Given the description of an element on the screen output the (x, y) to click on. 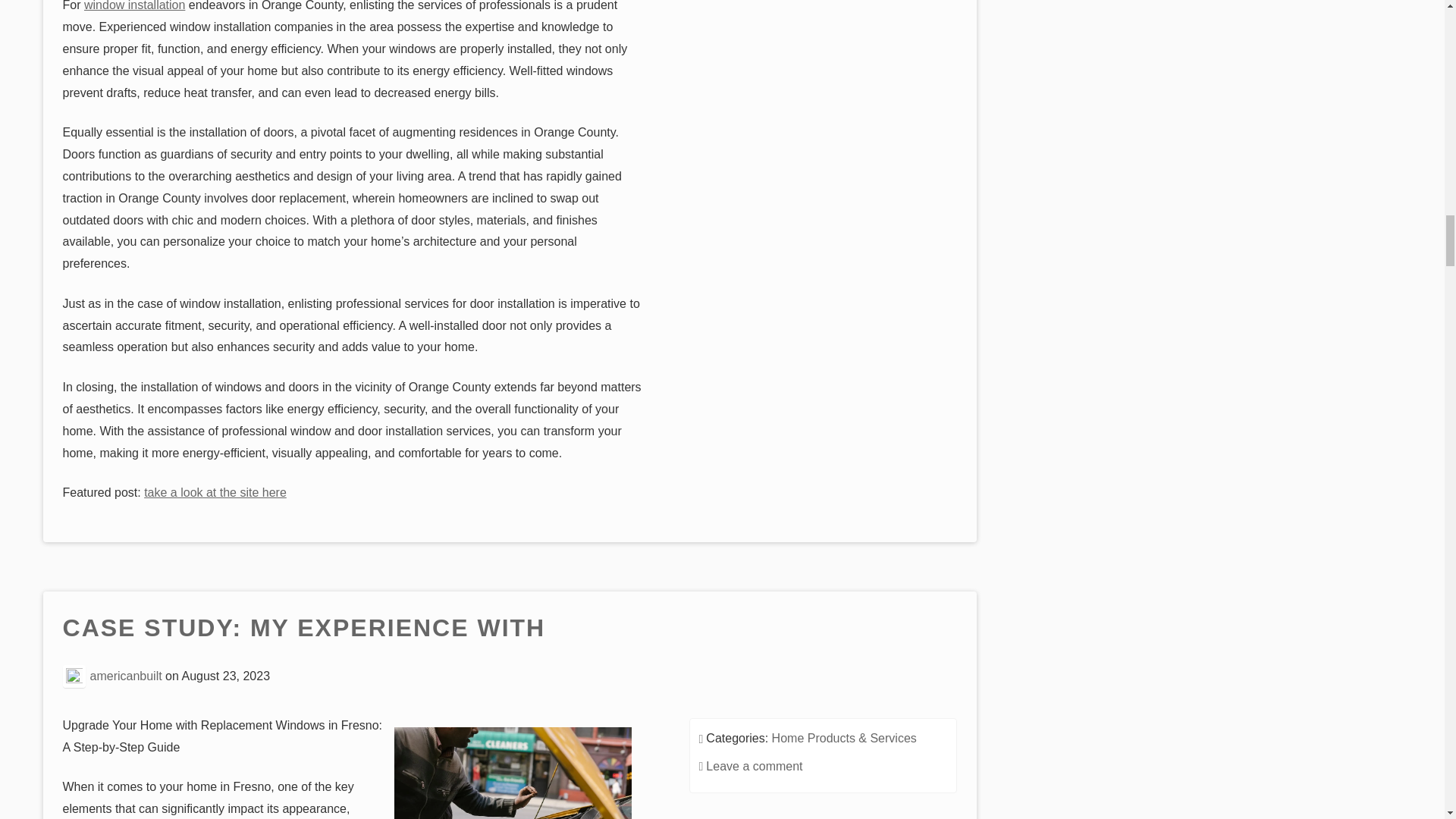
take a look at the site here (215, 492)
CASE STUDY: MY EXPERIENCE WITH (304, 629)
Leave a comment (754, 766)
window installation (134, 5)
americanbuilt (125, 675)
